Given the description of an element on the screen output the (x, y) to click on. 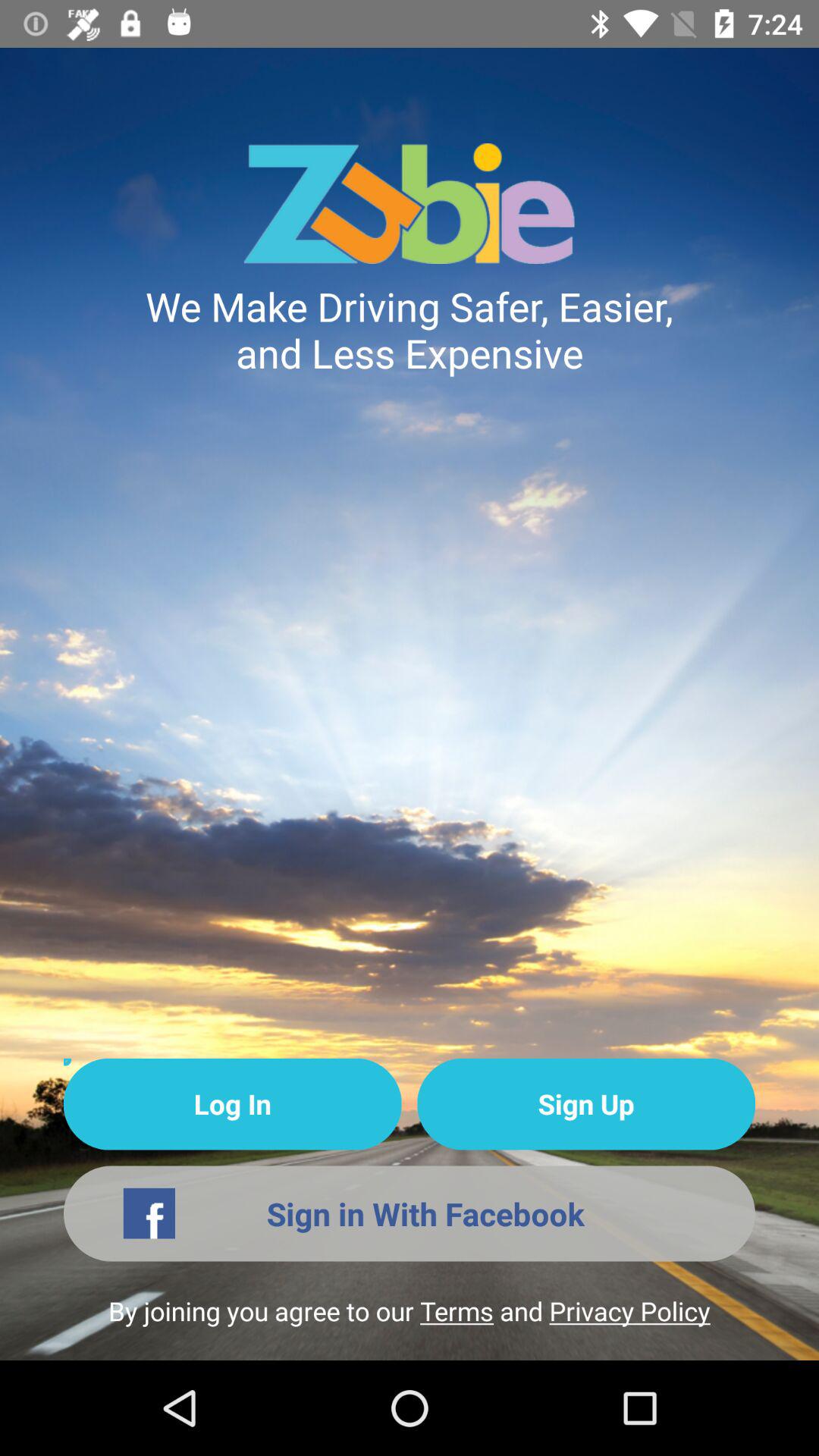
tap log in (232, 1104)
